Given the description of an element on the screen output the (x, y) to click on. 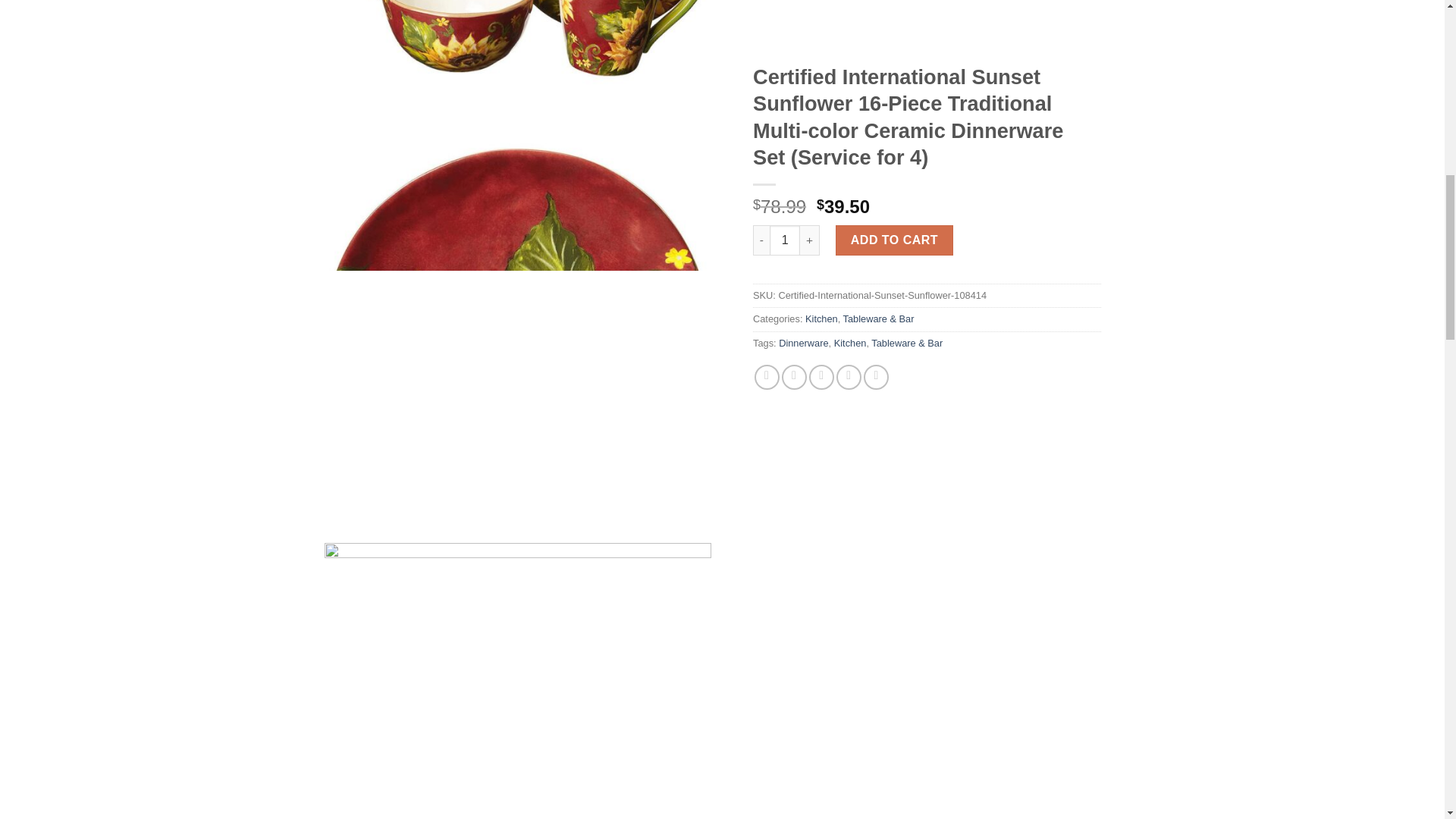
575891-nw3rlwnaw1i-2.jpg (517, 59)
575902-a351xjgvqk3-2.jpg (517, 680)
